Given the description of an element on the screen output the (x, y) to click on. 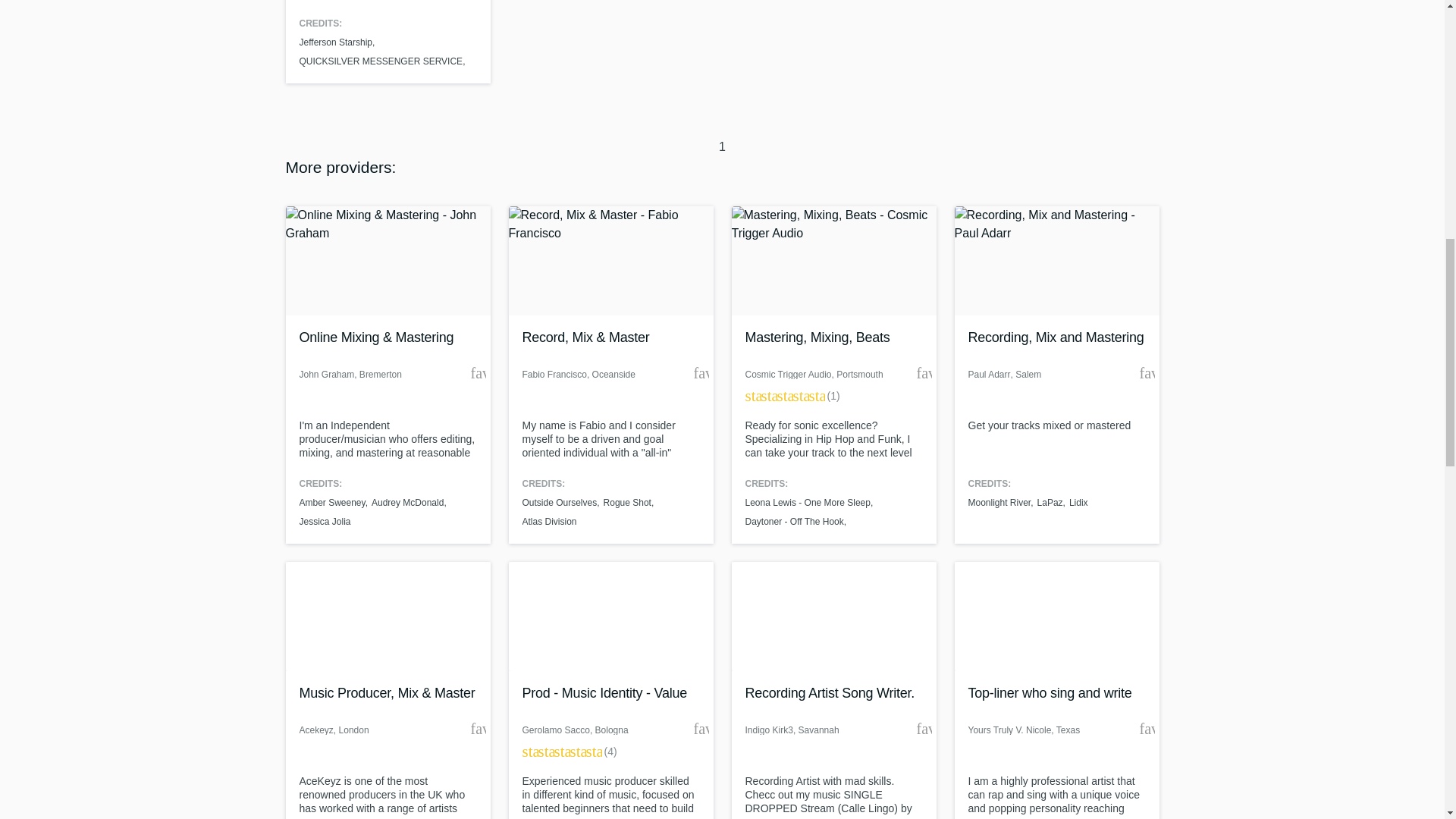
Add to favorites (700, 728)
Add to favorites (1146, 372)
Add to favorites (923, 728)
Add to favorites (1146, 728)
Add to favorites (477, 372)
Add to favorites (477, 728)
Add to favorites (700, 372)
Add to favorites (923, 372)
